Given the description of an element on the screen output the (x, y) to click on. 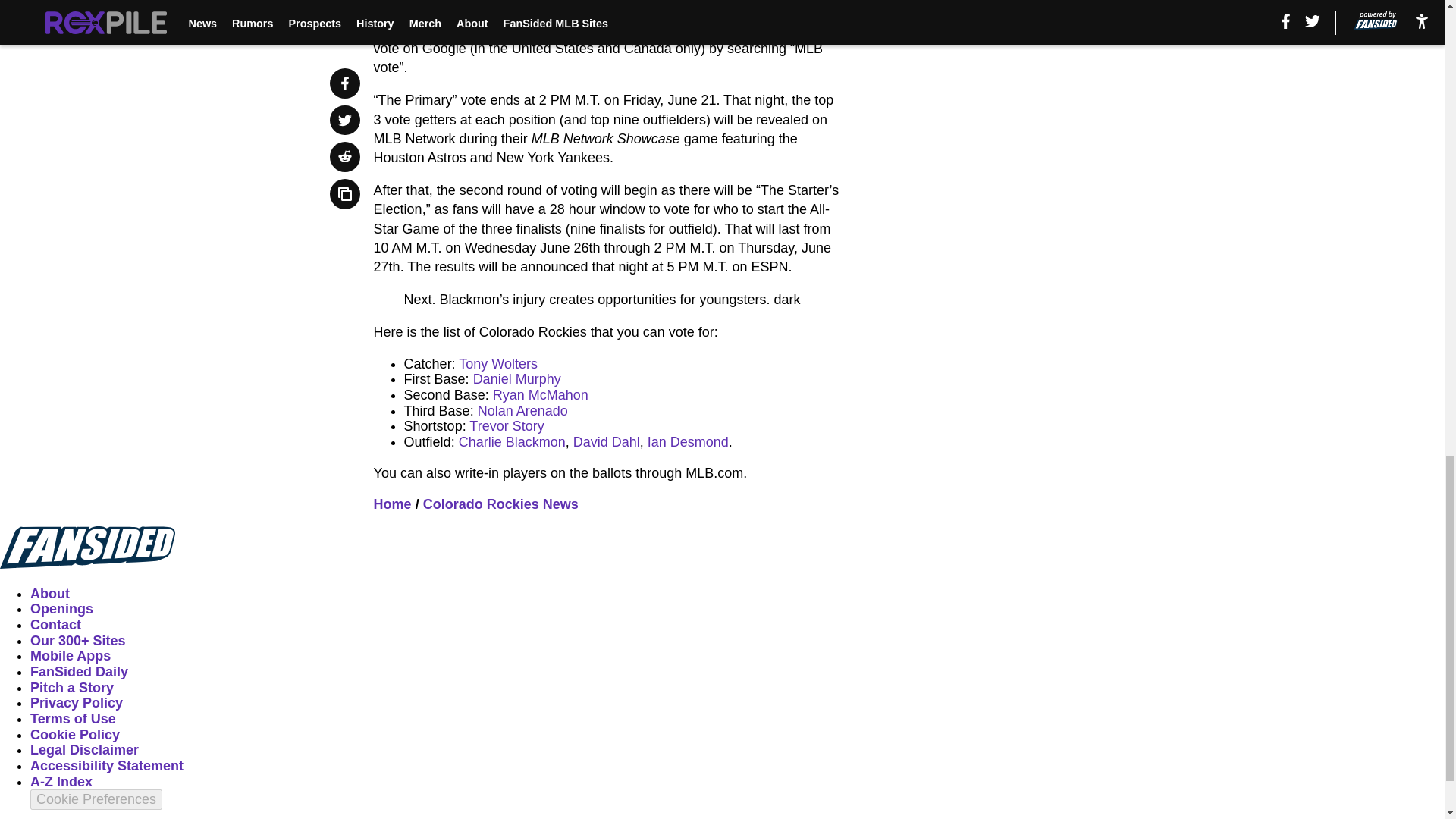
Nolan Arenado (522, 410)
Trevor Story (505, 426)
Home (393, 503)
Ryan McMahon (540, 394)
Colorado Rockies News (500, 503)
David Dahl (606, 441)
Tony Wolters (497, 363)
Daniel Murphy (516, 378)
Charlie Blackmon (512, 441)
Ian Desmond (688, 441)
